Given the description of an element on the screen output the (x, y) to click on. 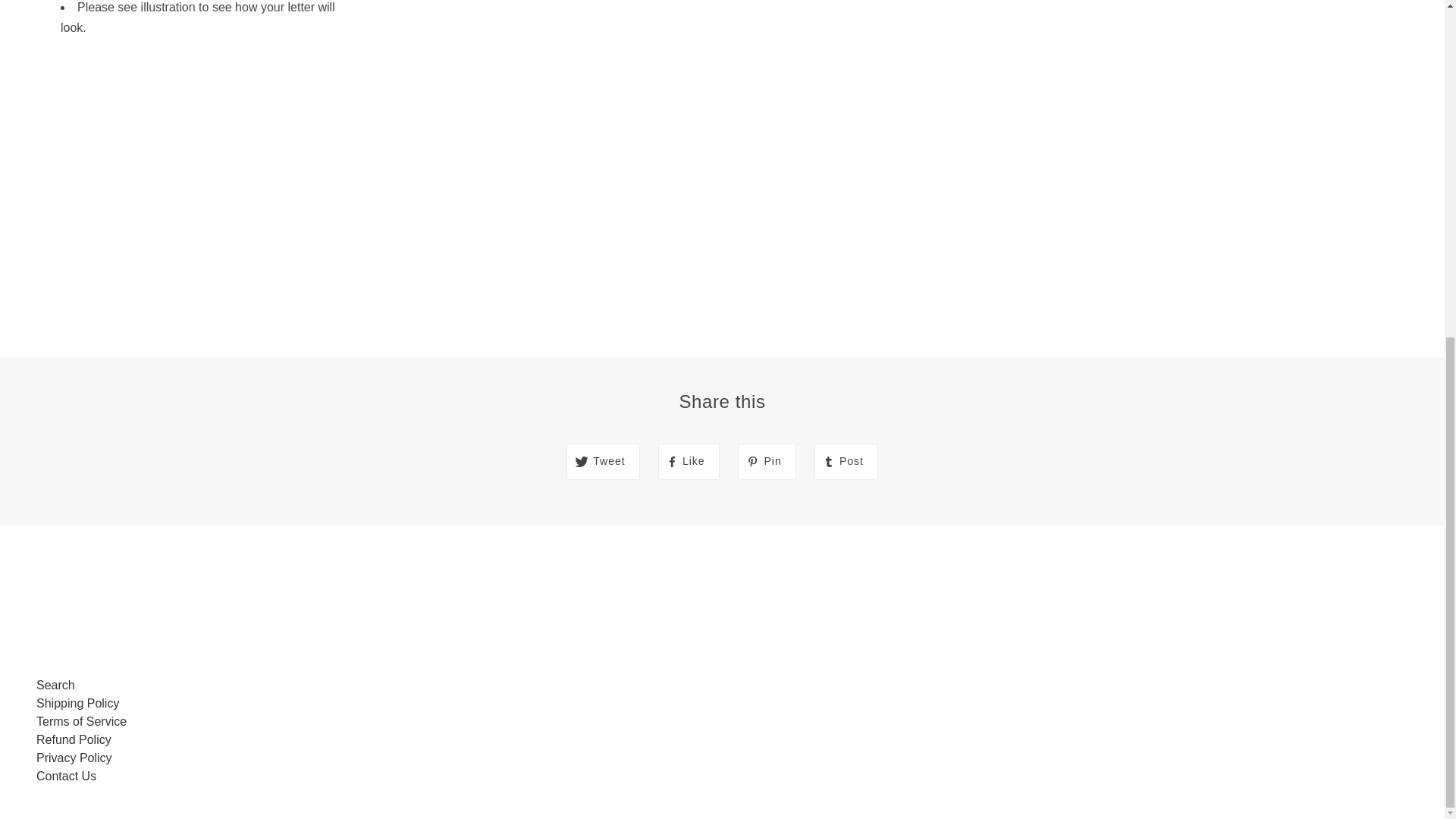
Refund Policy (74, 739)
Terms of Service (81, 721)
Search (55, 684)
Shipping Policy (77, 703)
Contact Us (66, 775)
Privacy Policy (74, 757)
